Given the description of an element on the screen output the (x, y) to click on. 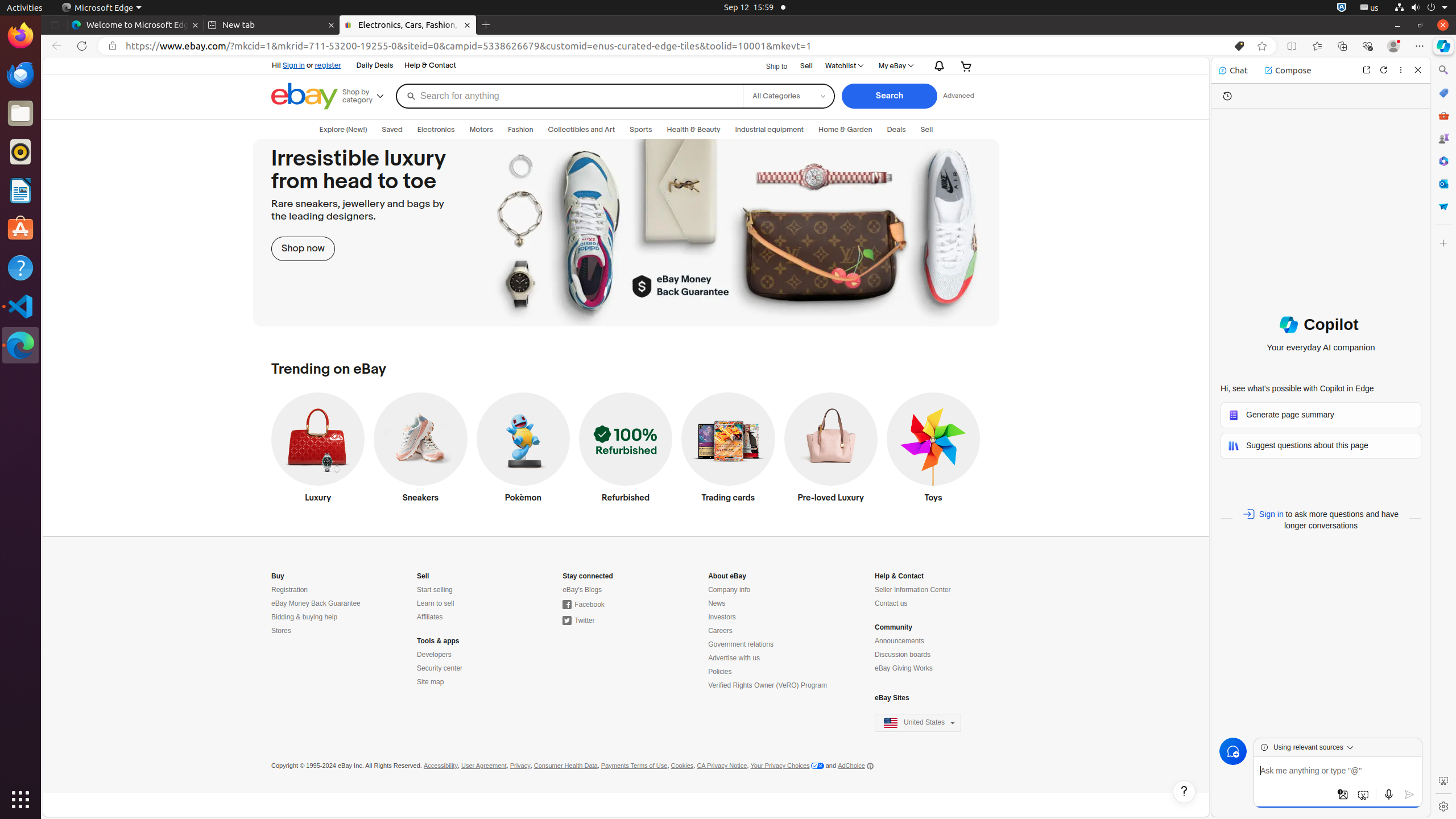
CA Privacy Notice Element type: link (721, 765)
Thunderbird Mail Element type: push-button (20, 74)
User Agreement Element type: link (483, 765)
Compose Element type: page-tab (1287, 70)
Open link in new tab Element type: push-button (1366, 69)
